Given the description of an element on the screen output the (x, y) to click on. 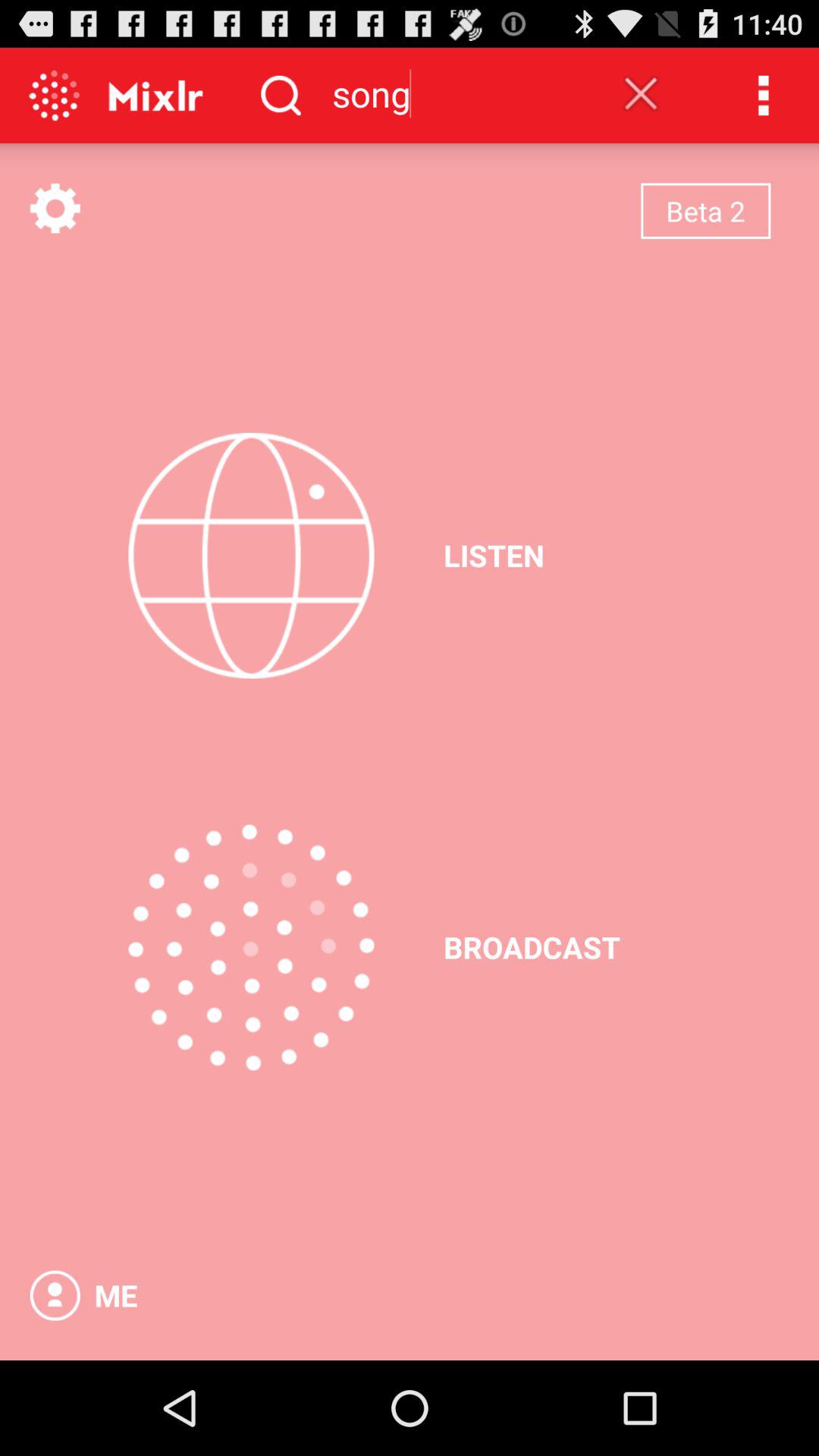
activate broadcast (251, 947)
